Given the description of an element on the screen output the (x, y) to click on. 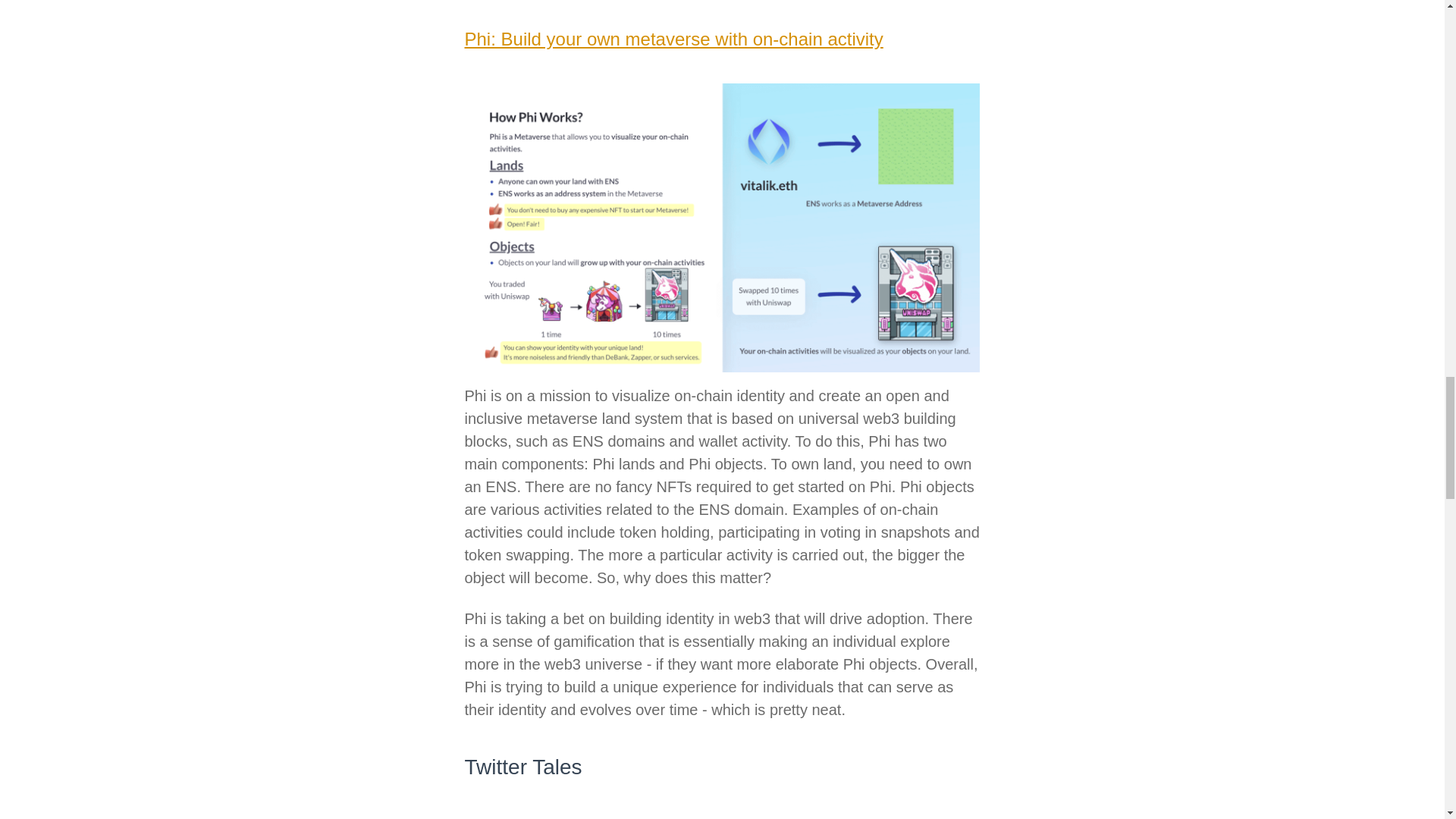
Phi: Build your own metaverse with on-chain activity (673, 38)
